Given the description of an element on the screen output the (x, y) to click on. 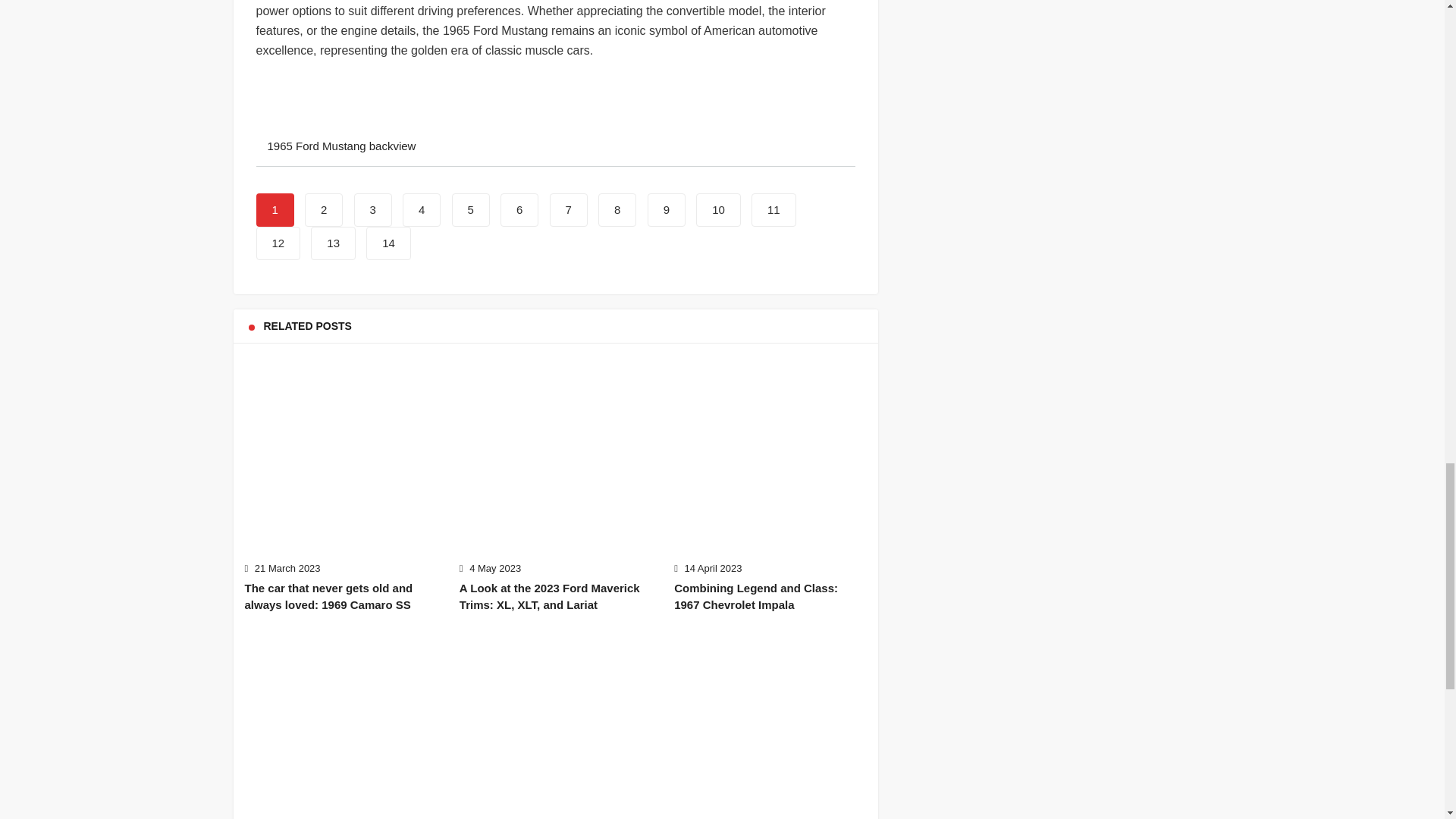
11 (773, 209)
14 (388, 243)
4 (422, 209)
12 (278, 243)
2 (323, 209)
10 (718, 209)
6 (519, 209)
7 (569, 209)
13 (333, 243)
3 (372, 209)
